Given the description of an element on the screen output the (x, y) to click on. 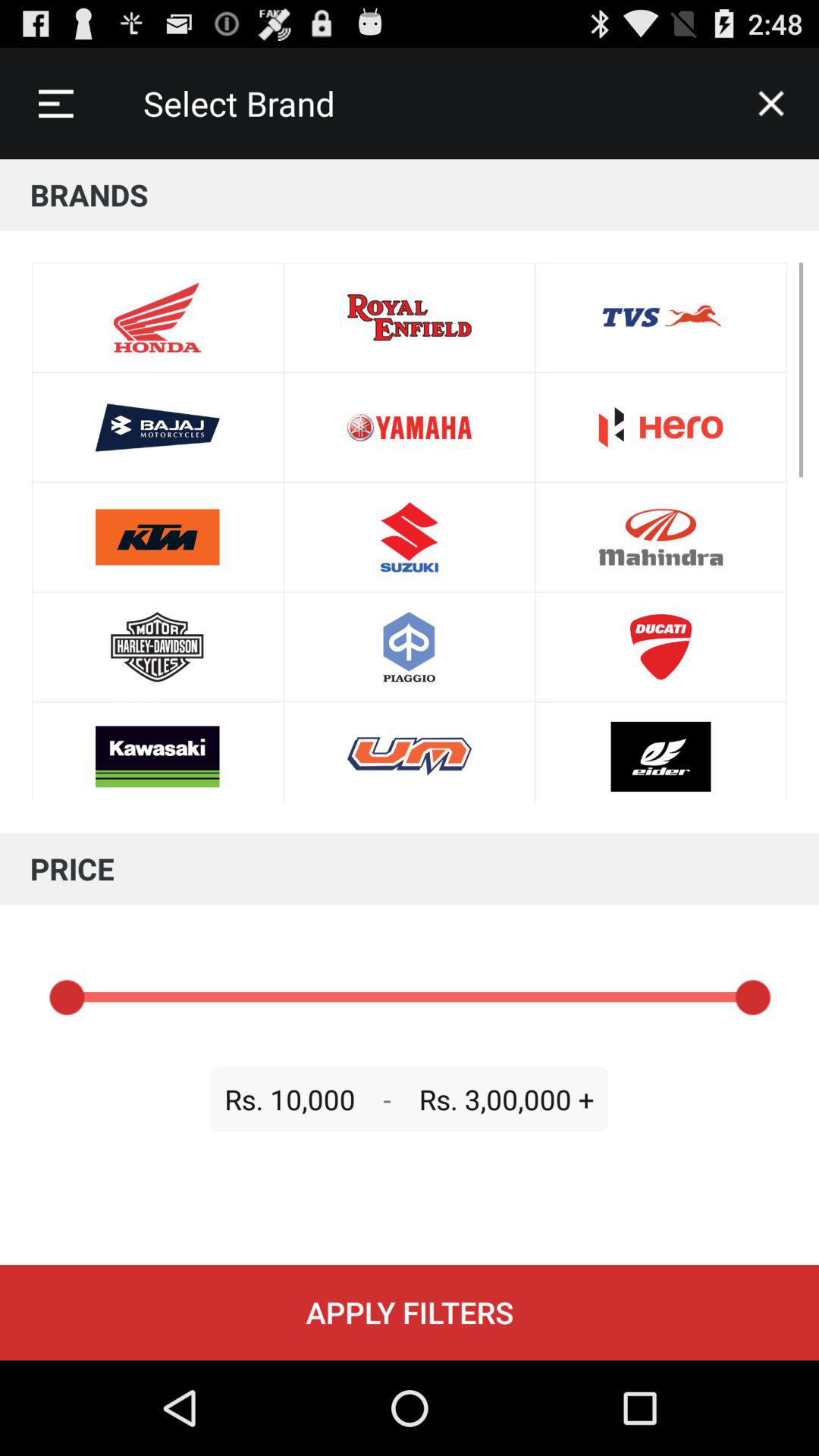
press the icon next to the select brand icon (771, 103)
